Given the description of an element on the screen output the (x, y) to click on. 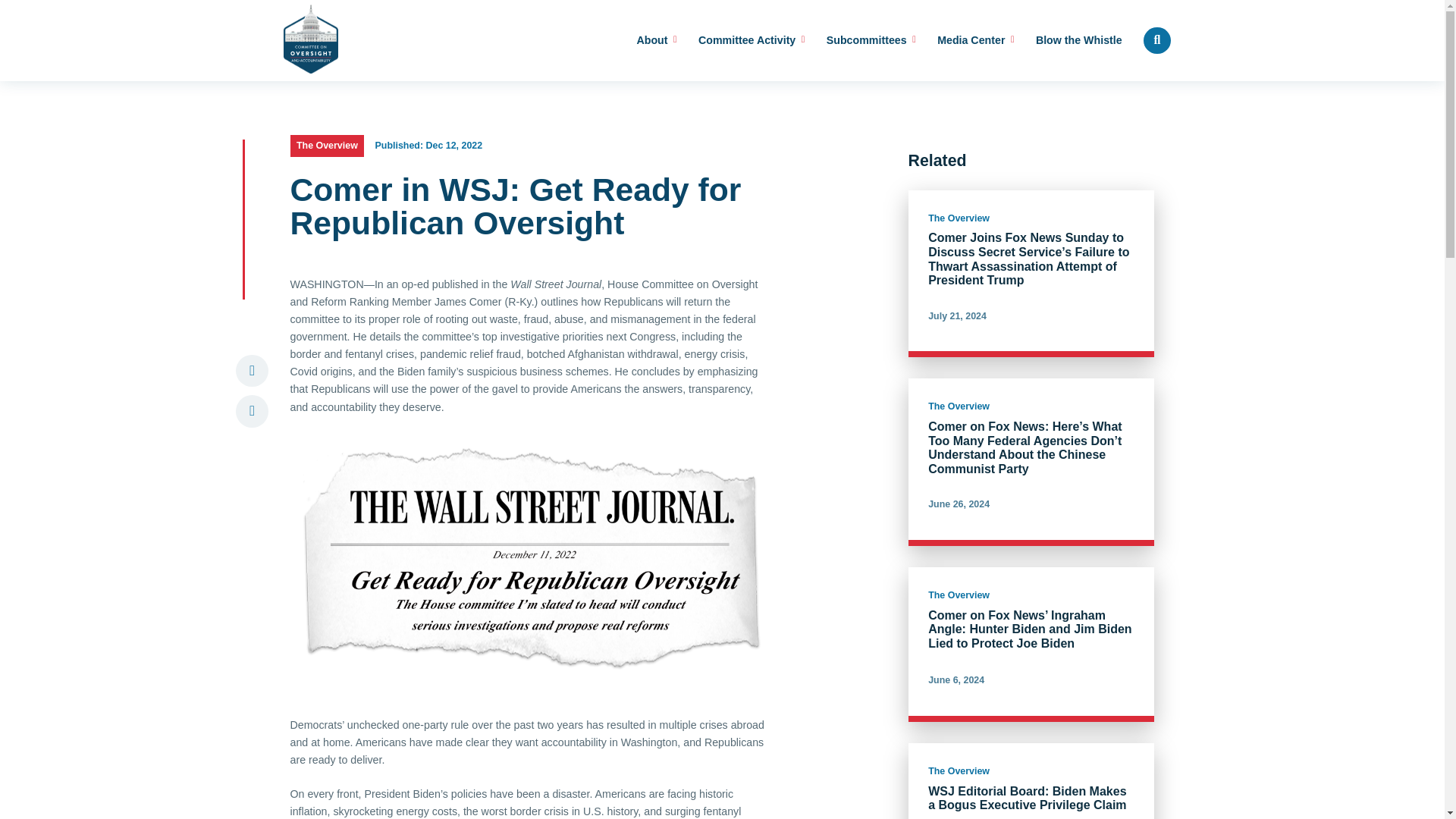
Media Center (975, 40)
Committee Activity (751, 40)
About (656, 40)
Blow the Whistle (1078, 40)
Subcommittees (871, 40)
